Given the description of an element on the screen output the (x, y) to click on. 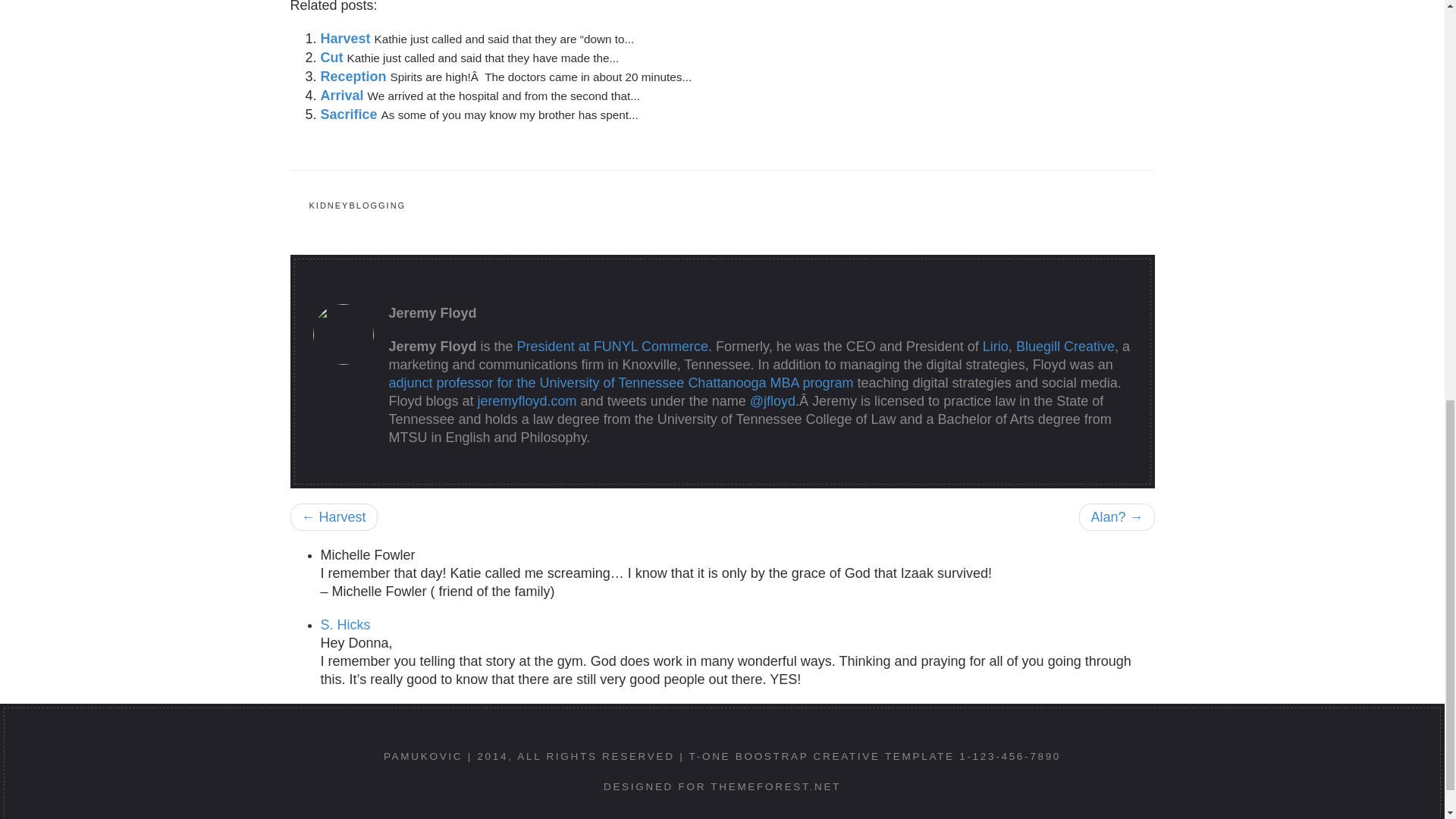
Reception (355, 76)
Reception (355, 76)
Bluegill Creative (1065, 346)
President at FUNYL Commerce (611, 346)
Lirio (995, 346)
Arrival (343, 95)
Arrival (343, 95)
Harvest (347, 38)
Cut (333, 57)
jeremyfloyd.com (526, 400)
Harvest (347, 38)
KIDNEYBLOGGING (356, 205)
Cut (333, 57)
Sacrifice (350, 114)
Sacrifice (350, 114)
